Given the description of an element on the screen output the (x, y) to click on. 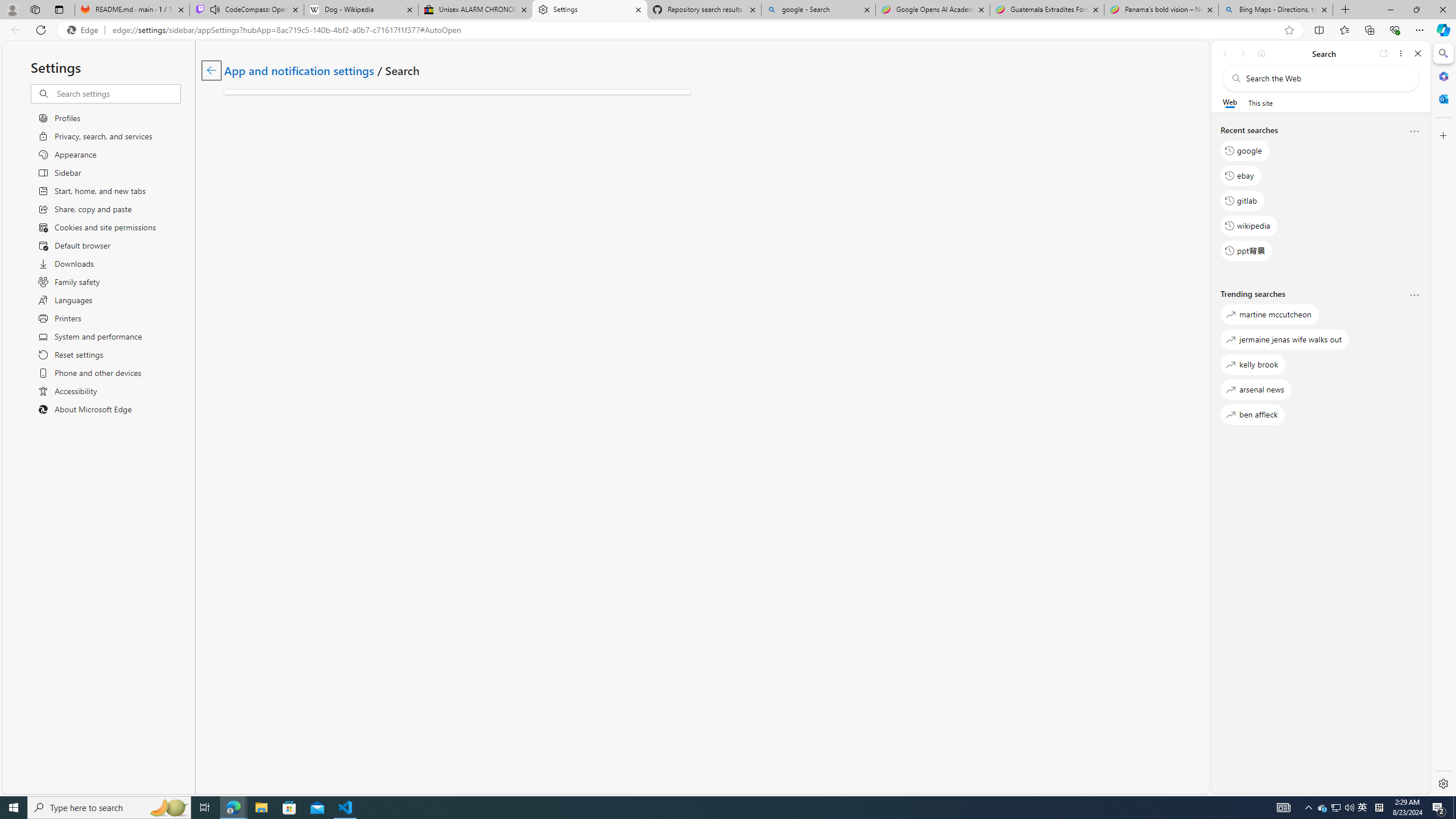
Mute tab (215, 8)
kelly brook (1252, 364)
App and notification settings (299, 69)
Google Opens AI Academy for Startups - Nearshore Americas (932, 9)
